Given the description of an element on the screen output the (x, y) to click on. 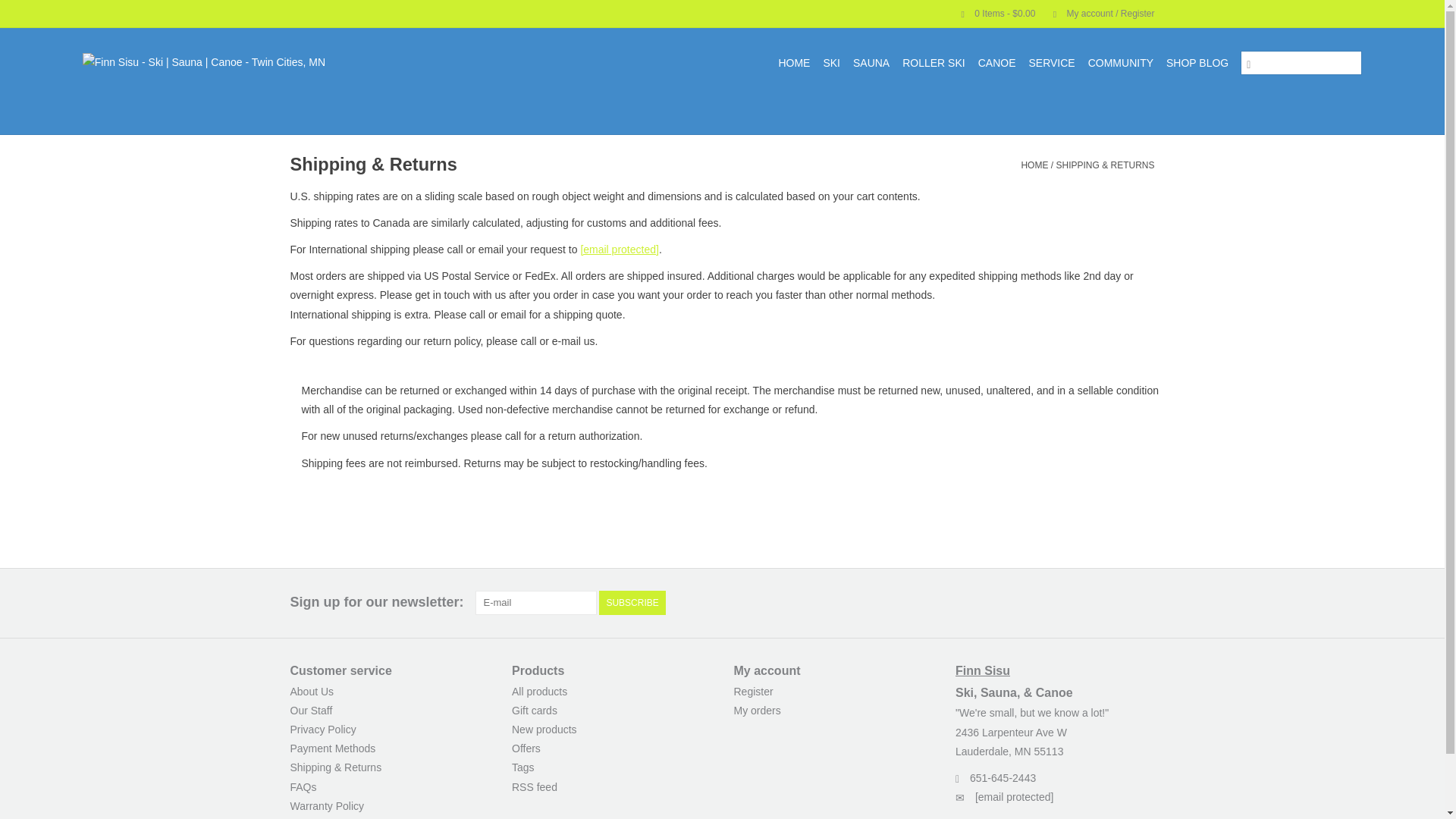
Ski (831, 62)
SKI (831, 62)
ROLLER SKI (933, 62)
HOME (793, 62)
SAUNA (870, 62)
Cart (992, 13)
My account (1096, 13)
